Given the description of an element on the screen output the (x, y) to click on. 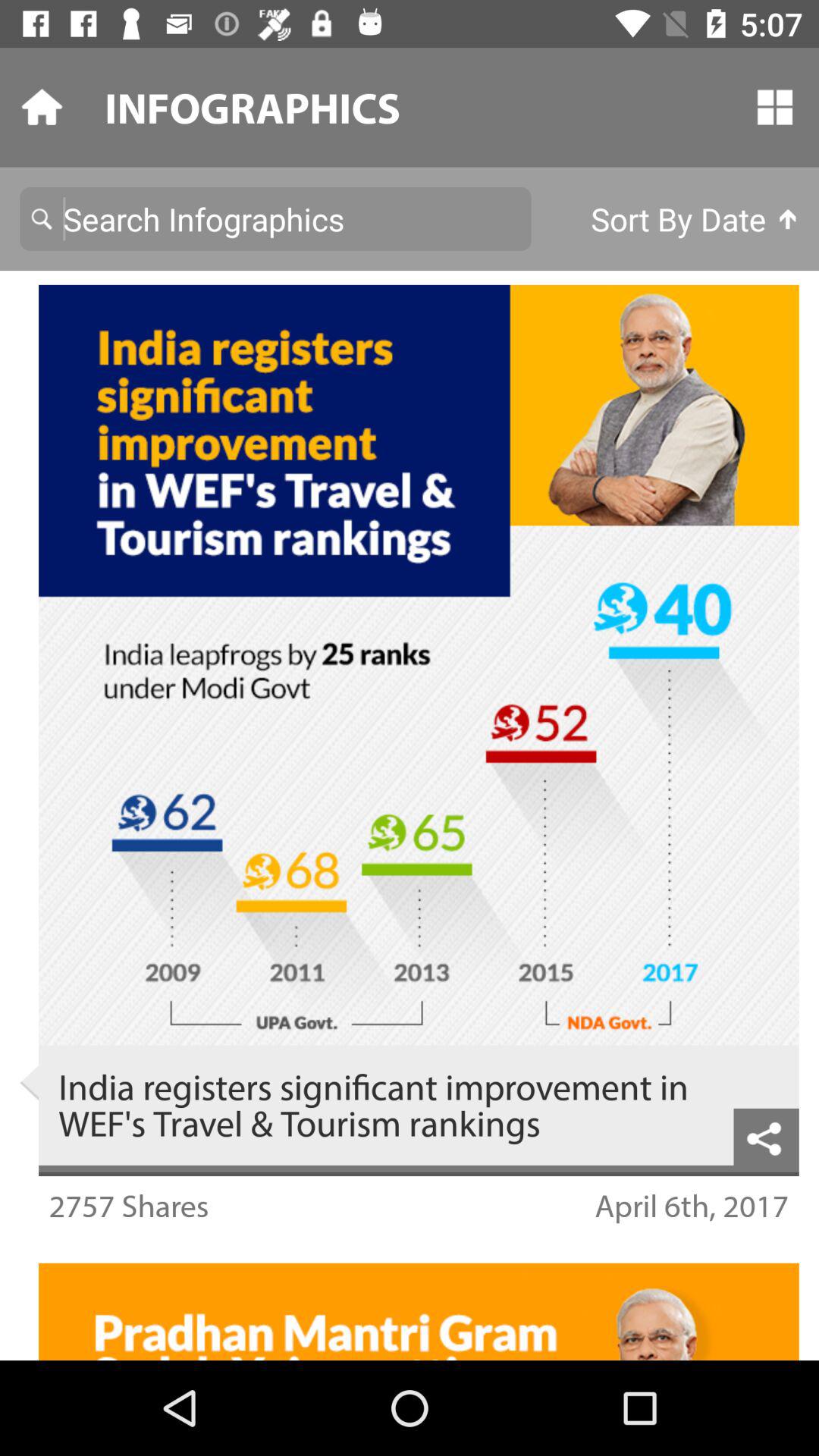
turn off the item next to the april 6th, 2017 item (128, 1205)
